Given the description of an element on the screen output the (x, y) to click on. 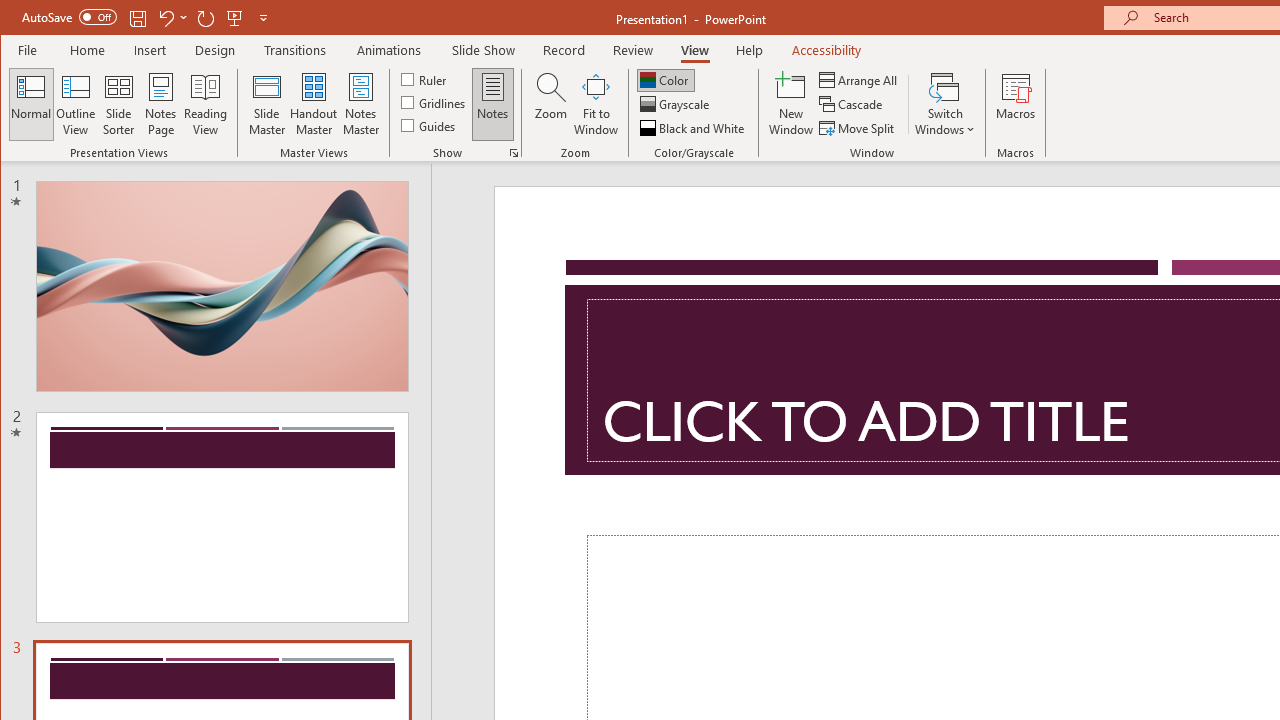
Arrange All (859, 80)
Black and White (694, 127)
Notes (493, 104)
Outline View (75, 104)
Handout Master (314, 104)
